Given the description of an element on the screen output the (x, y) to click on. 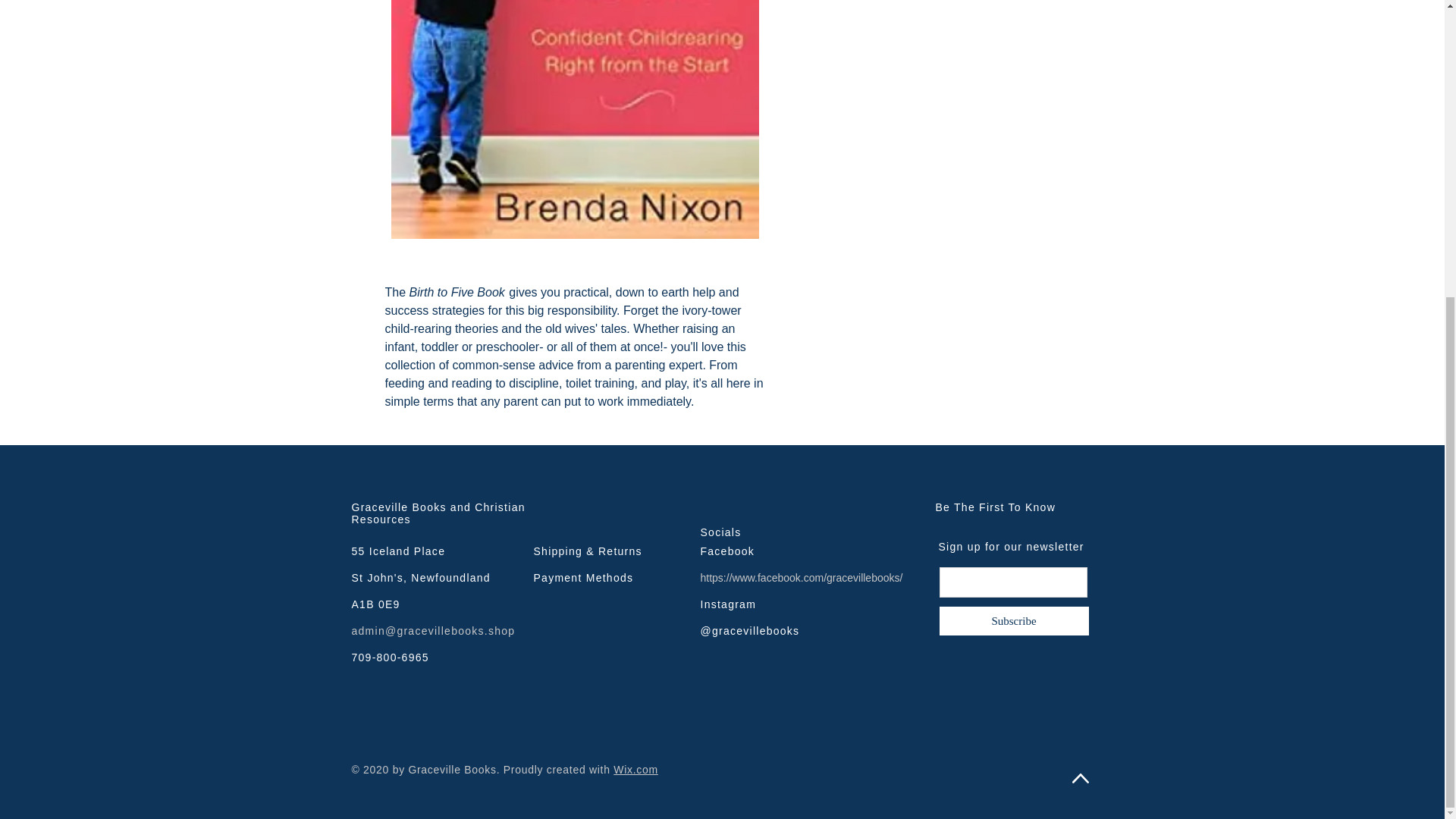
Instagram (728, 604)
Payment Methods (583, 577)
Wix.com (635, 769)
Subscribe (1013, 621)
Facebook (727, 551)
